Given the description of an element on the screen output the (x, y) to click on. 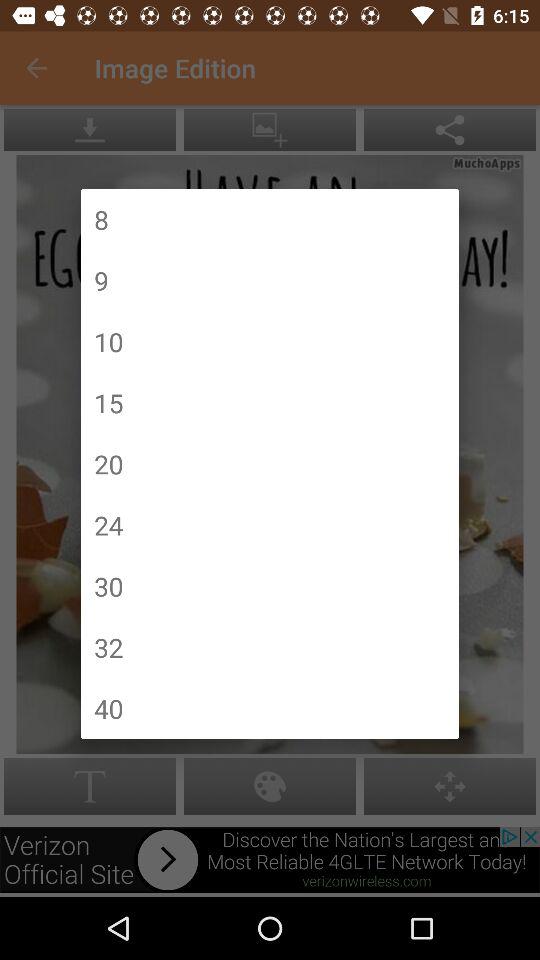
swipe to 10 (108, 341)
